Given the description of an element on the screen output the (x, y) to click on. 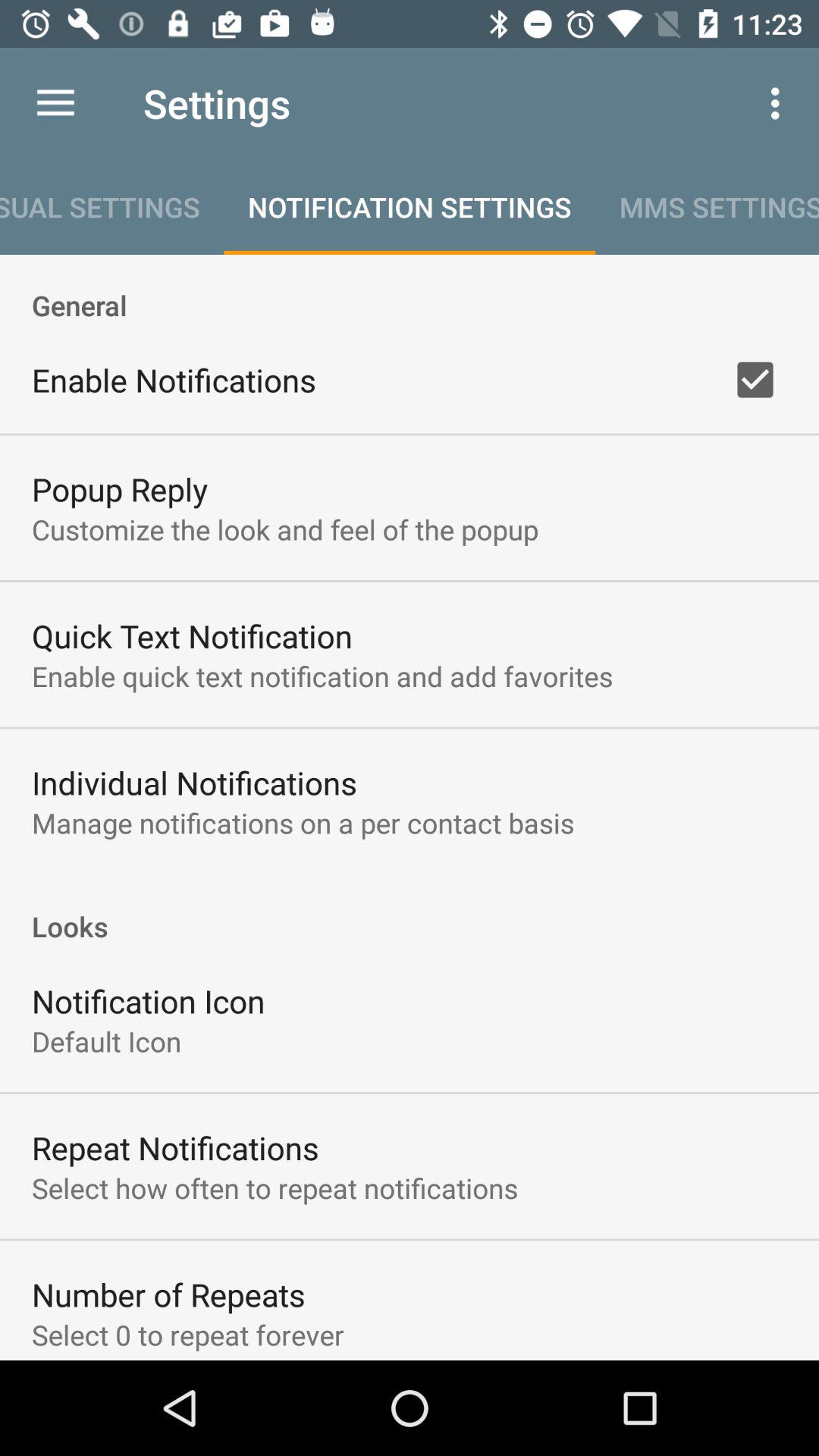
click the notification icon item (148, 1000)
